Given the description of an element on the screen output the (x, y) to click on. 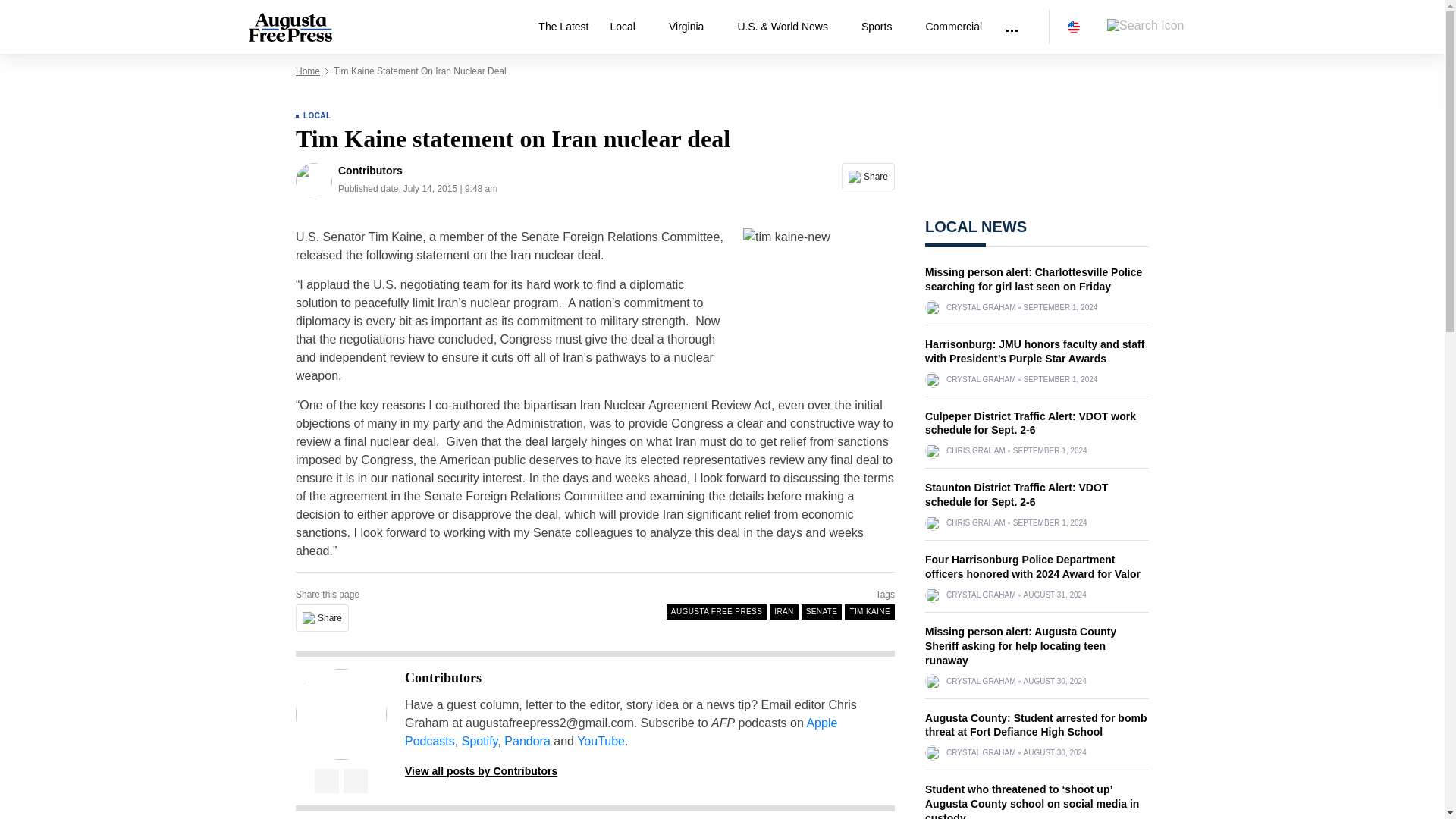
Sports (882, 27)
Virginia (692, 27)
The Latest (562, 27)
Local (628, 27)
Commercial (953, 27)
